Given the description of an element on the screen output the (x, y) to click on. 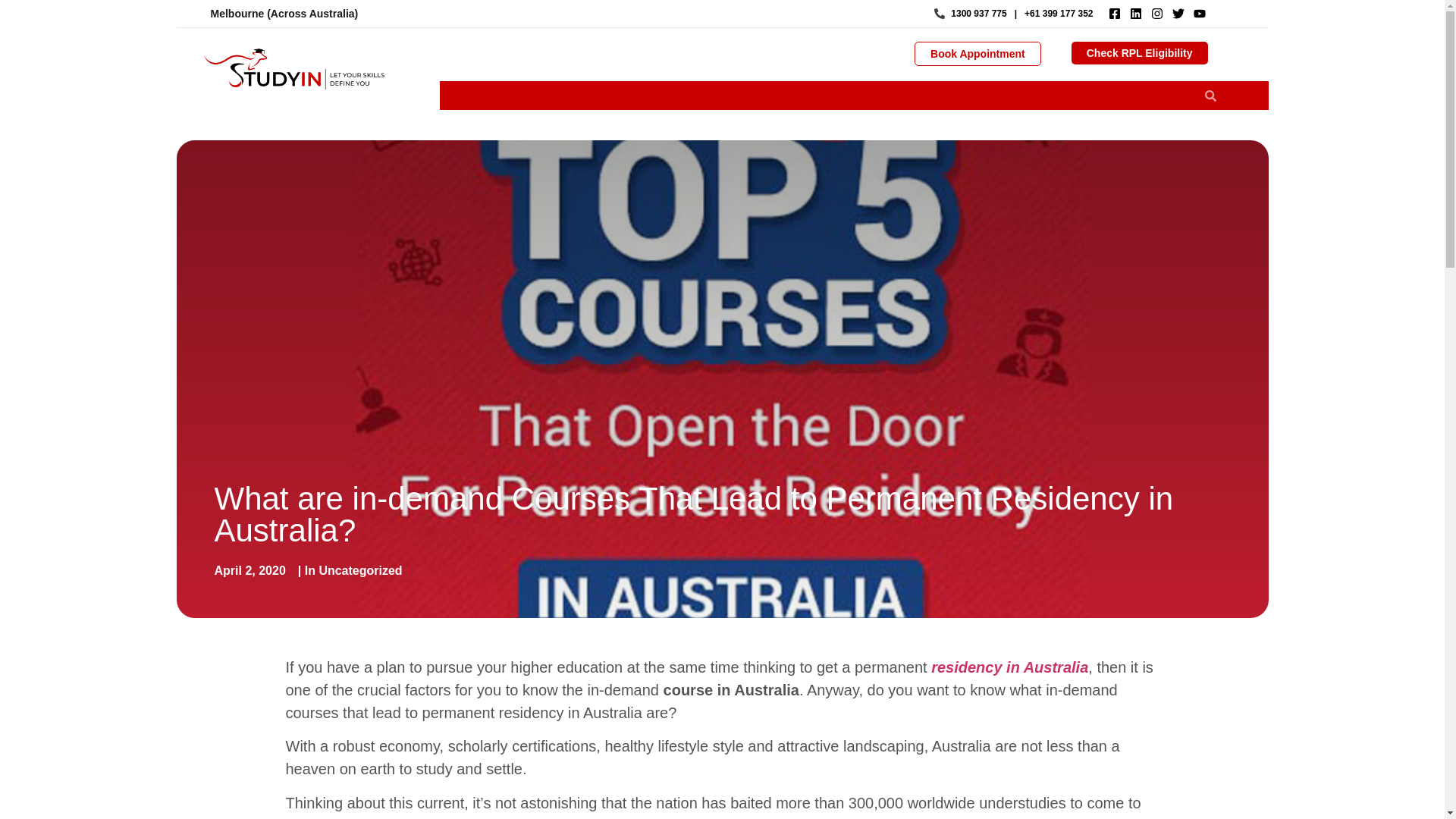
Check RPL Eligibility (1139, 52)
Book Appointment (977, 53)
1300 937 775 (970, 13)
